Given the description of an element on the screen output the (x, y) to click on. 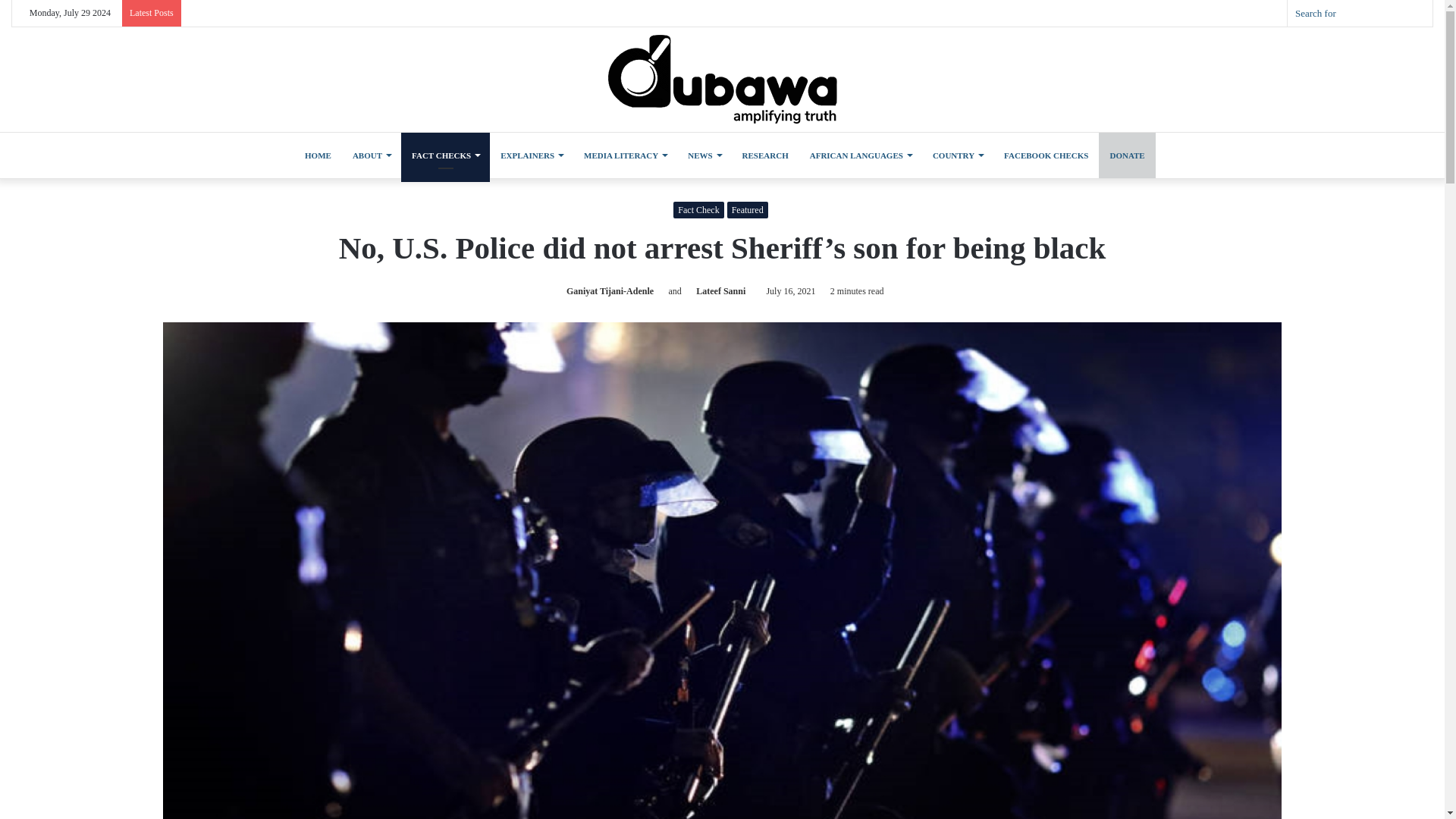
EXPLAINERS (531, 155)
Ganiyat Tijani-Adenle (606, 290)
Search for (1359, 13)
Lateef Sanni (717, 290)
NEWS (703, 155)
MEDIA LITERACY (625, 155)
Search for (1417, 13)
Dubawa (721, 79)
ABOUT (371, 155)
HOME (315, 155)
FACT CHECKS (445, 155)
